Given the description of an element on the screen output the (x, y) to click on. 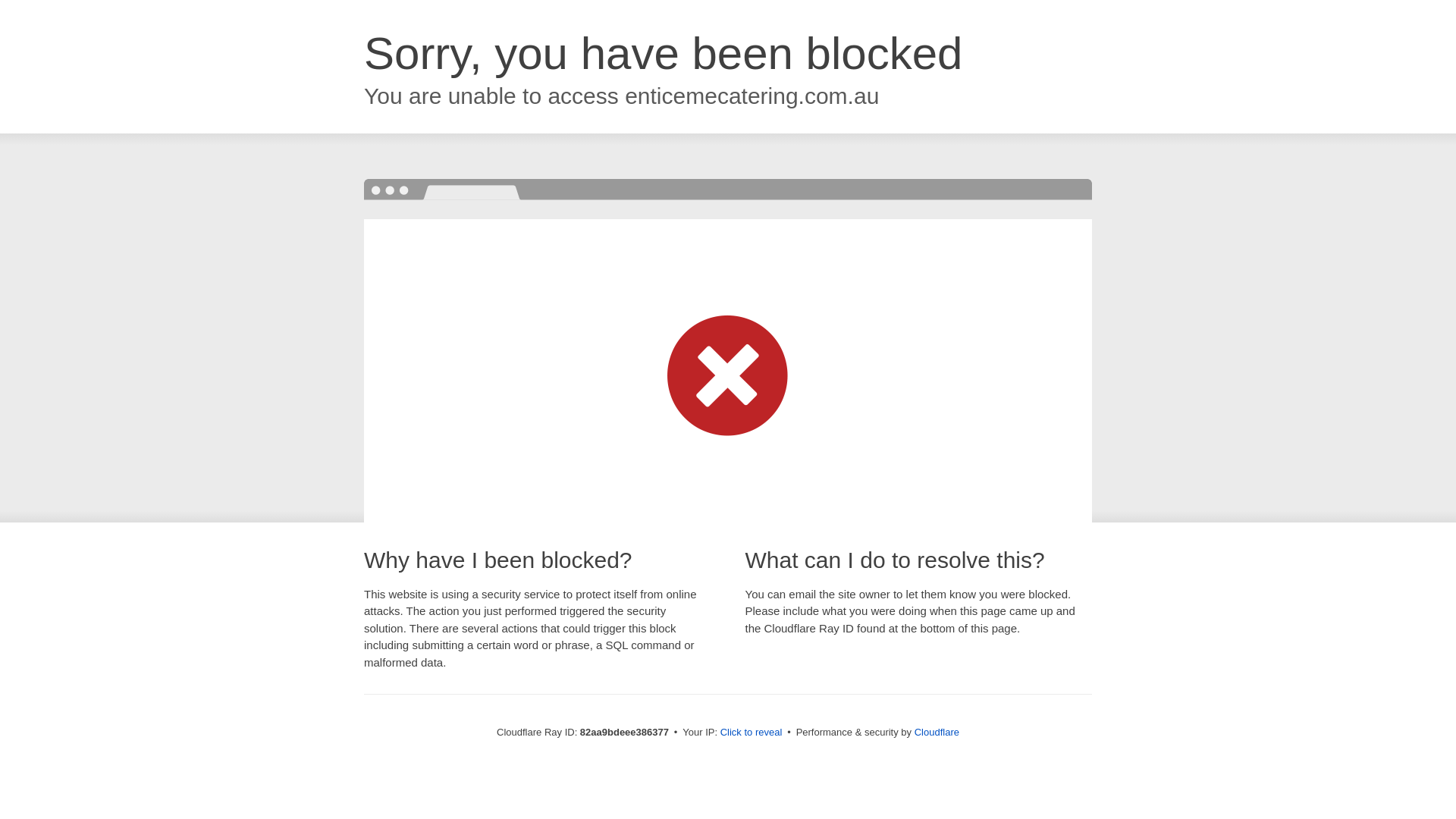
Cloudflare Element type: text (936, 731)
Click to reveal Element type: text (751, 732)
